Given the description of an element on the screen output the (x, y) to click on. 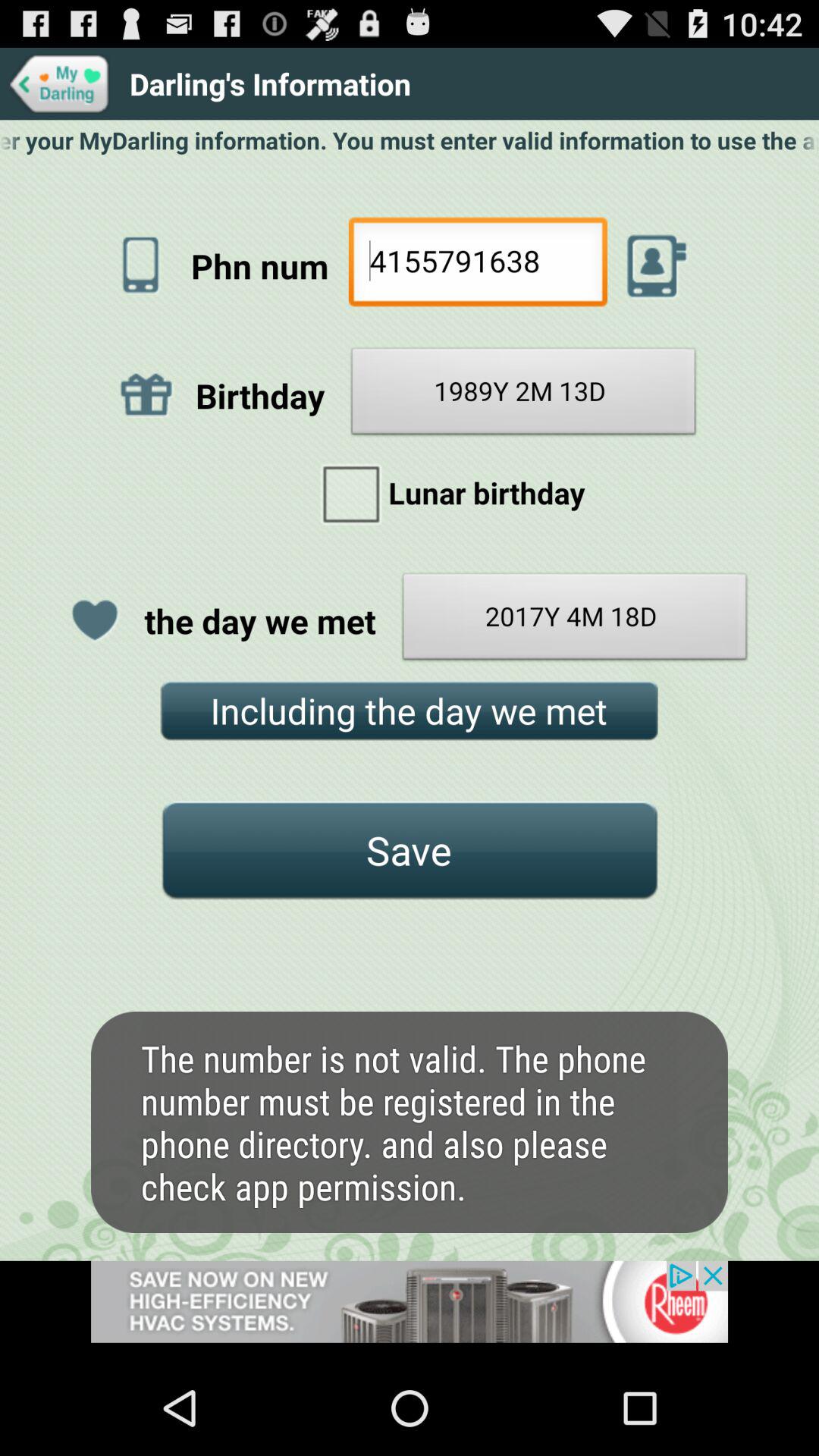
go back (59, 83)
